Given the description of an element on the screen output the (x, y) to click on. 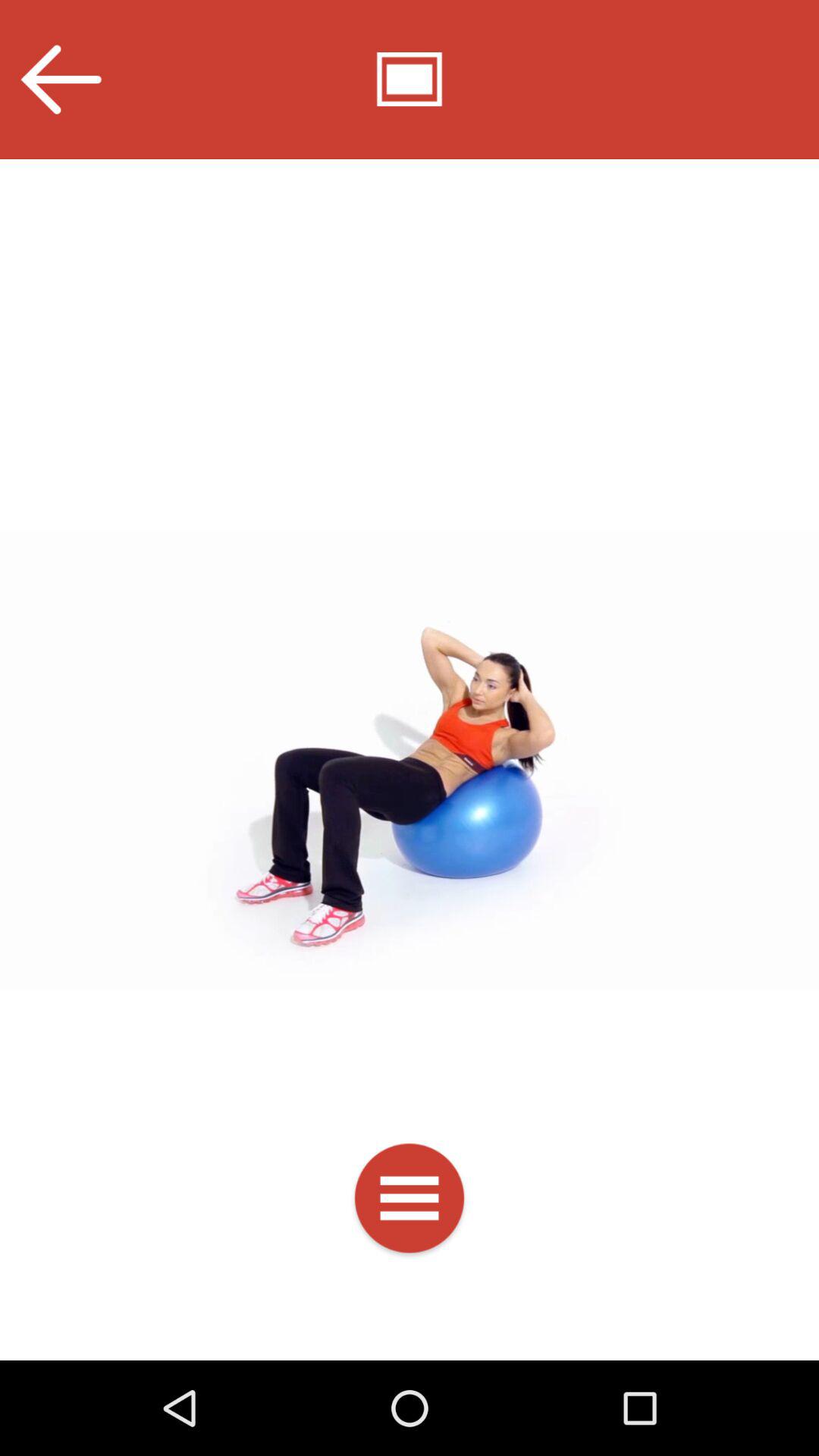
options (409, 1200)
